Given the description of an element on the screen output the (x, y) to click on. 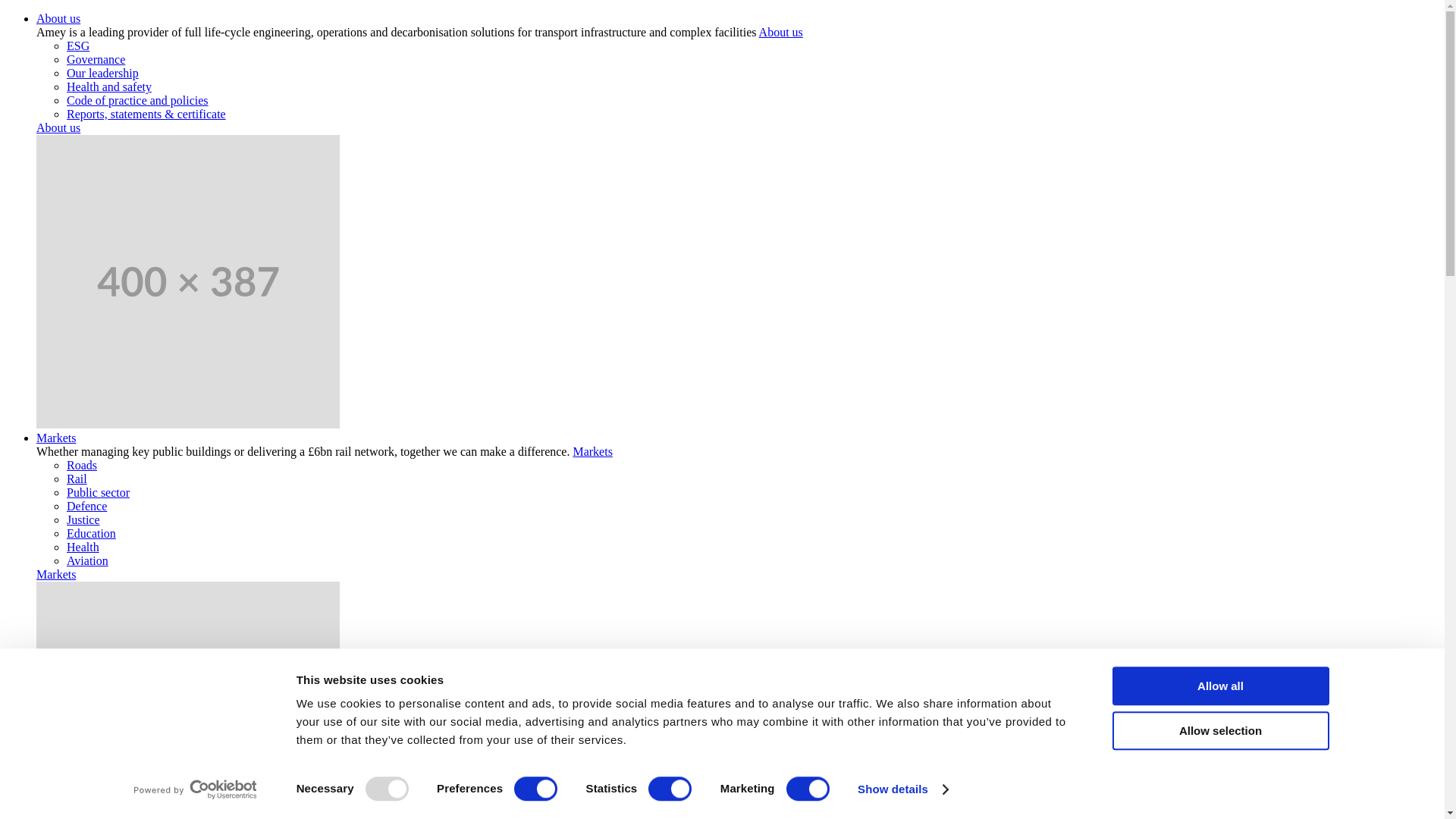
Show details (902, 789)
